Given the description of an element on the screen output the (x, y) to click on. 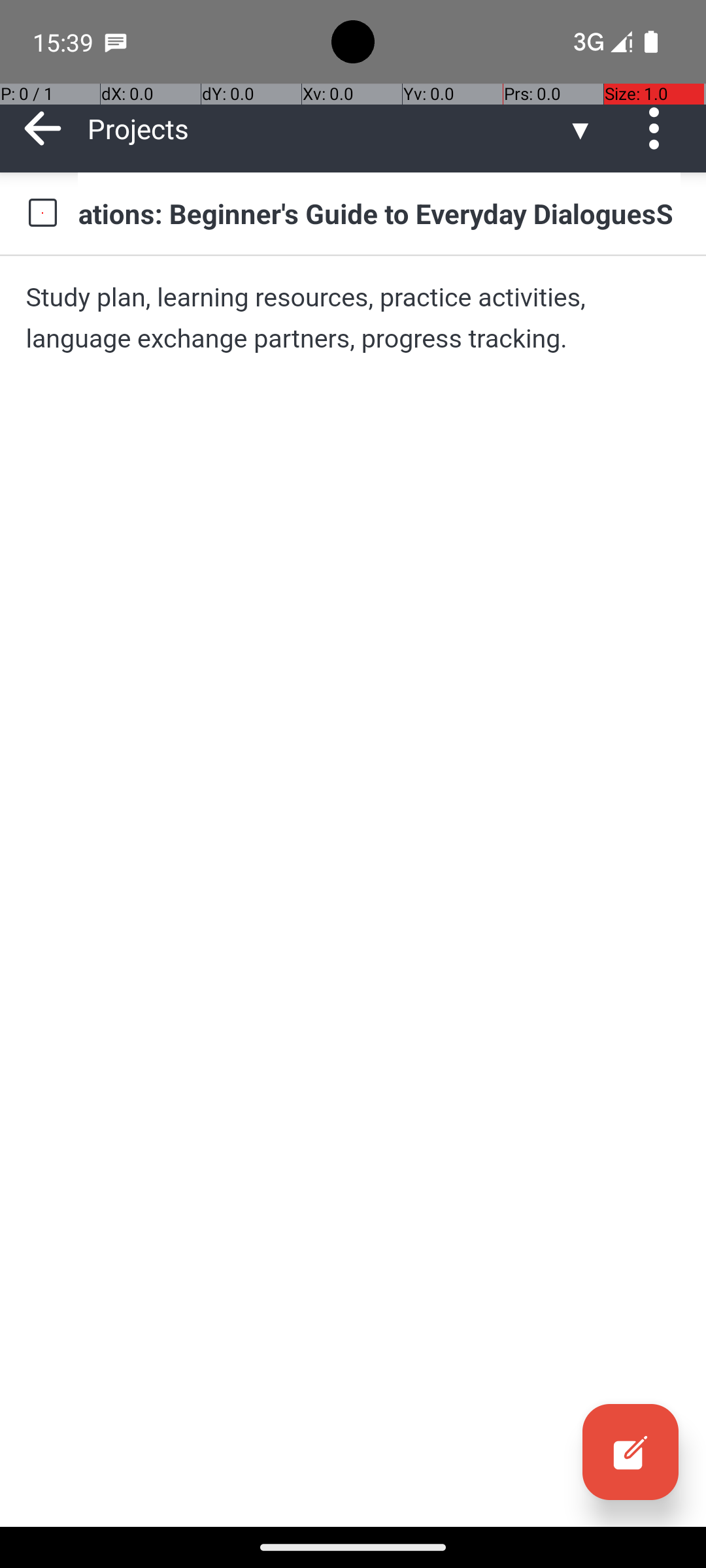
Language Learning Project - Conversational Spanish Conversations: Beginner's Guide to Everyday DialoguesSpanish for BeginnersConversational Spanish Element type: android.widget.EditText (378, 213)
Projects Element type: android.widget.TextView (326, 128)
Study plan, learning resources, practice activities, language exchange partners, progress tracking. Element type: android.widget.TextView (352, 317)
15:39 Element type: android.widget.TextView (64, 41)
